Given the description of an element on the screen output the (x, y) to click on. 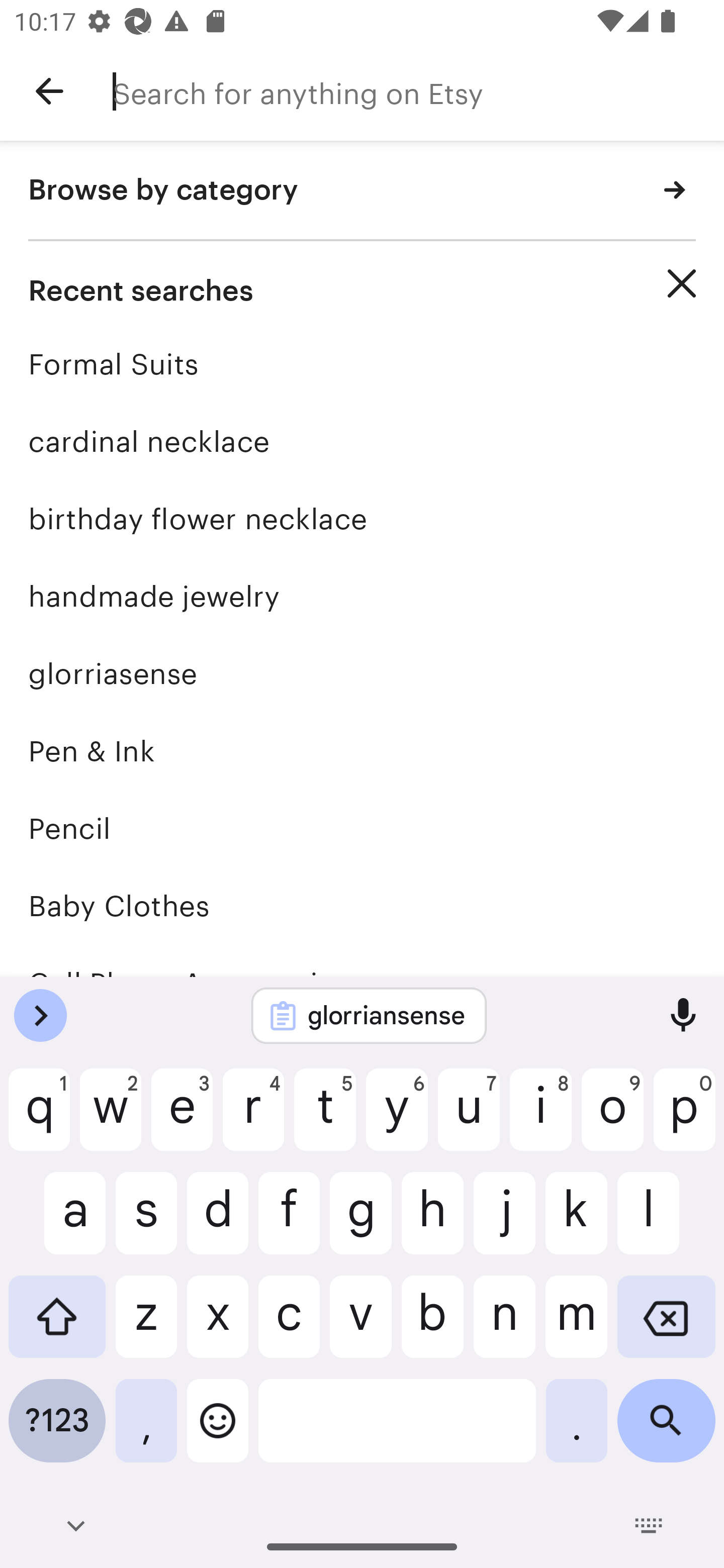
Navigate up (49, 91)
Search for anything on Etsy (418, 91)
Browse by category (362, 191)
Clear (681, 283)
Formal Suits (362, 364)
cardinal necklace (362, 440)
birthday flower necklace (362, 518)
handmade jewelry (362, 596)
glorriasense (362, 673)
Pen & Ink (362, 750)
Pencil (362, 828)
Baby Clothes (362, 906)
